Given the description of an element on the screen output the (x, y) to click on. 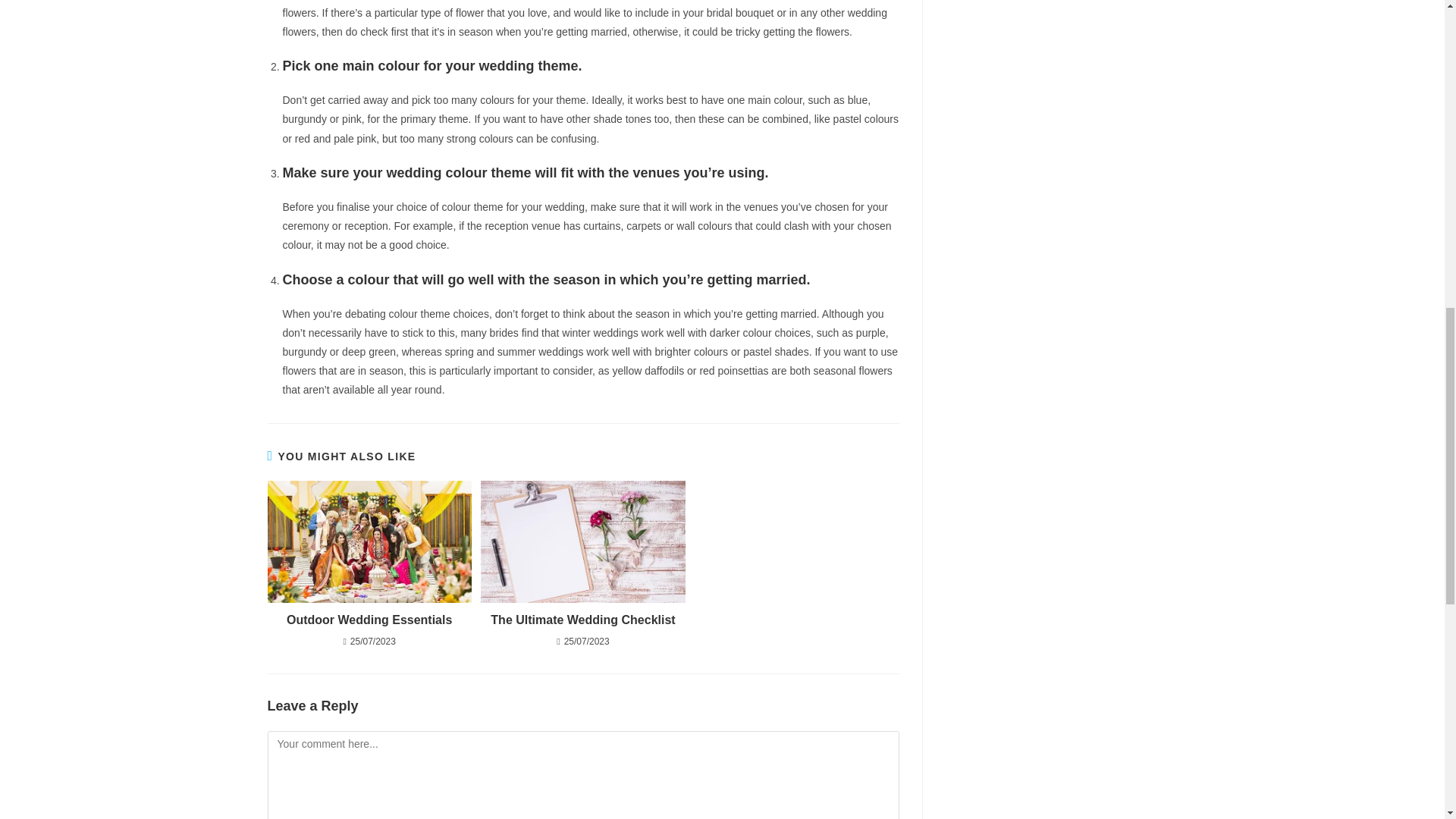
Outdoor Wedding Essentials (368, 619)
The Ultimate Wedding Checklist (582, 619)
